Given the description of an element on the screen output the (x, y) to click on. 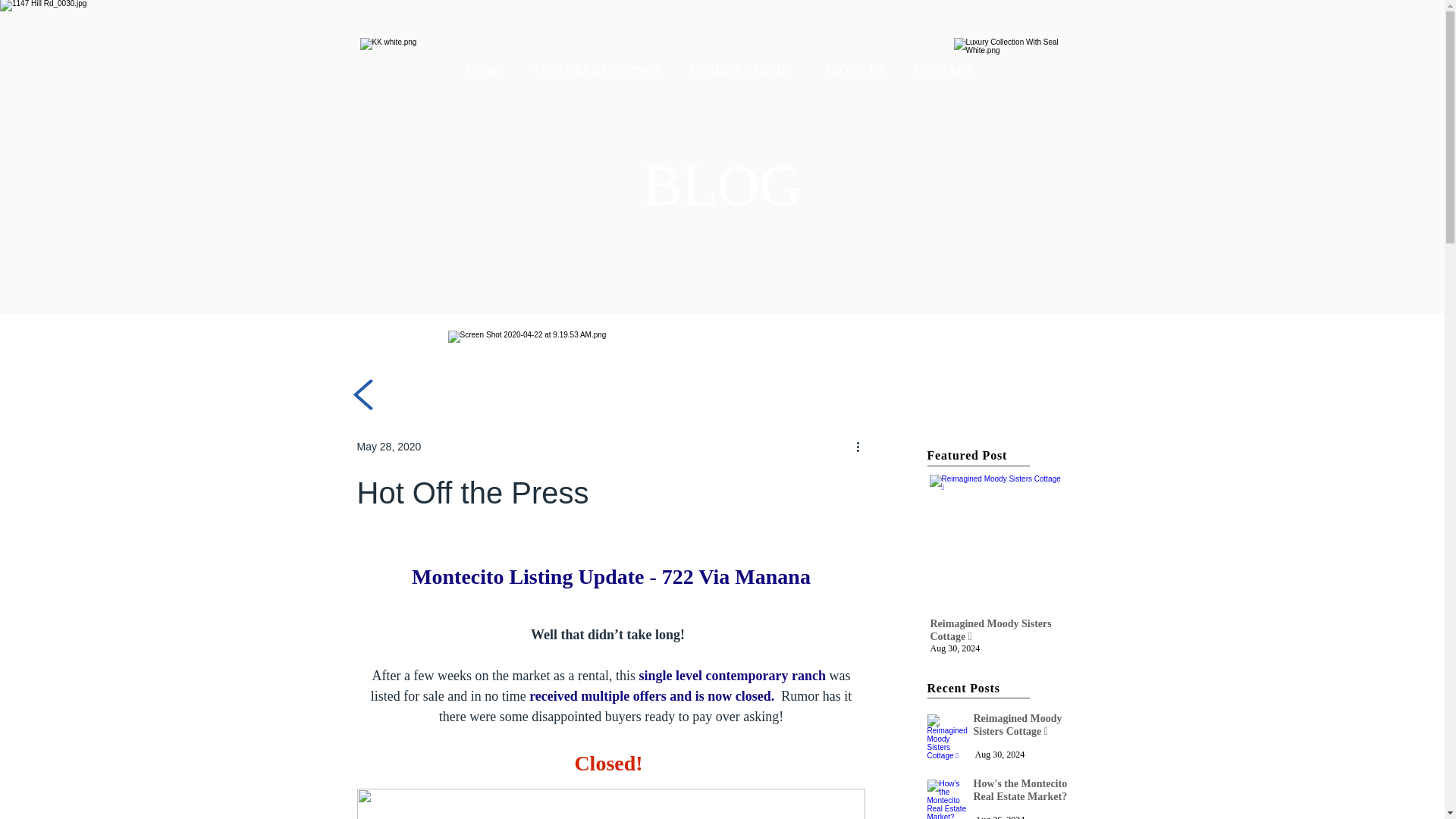
Montecito Listing Update - 722 Via Manana (611, 576)
How's the Montecito Real Estate Market?  (948, 799)
INSIDER'S GUIDE (741, 69)
May 28, 2020 (388, 445)
ABOUT US (853, 69)
HOME (484, 69)
CONTACT (943, 69)
